Given the description of an element on the screen output the (x, y) to click on. 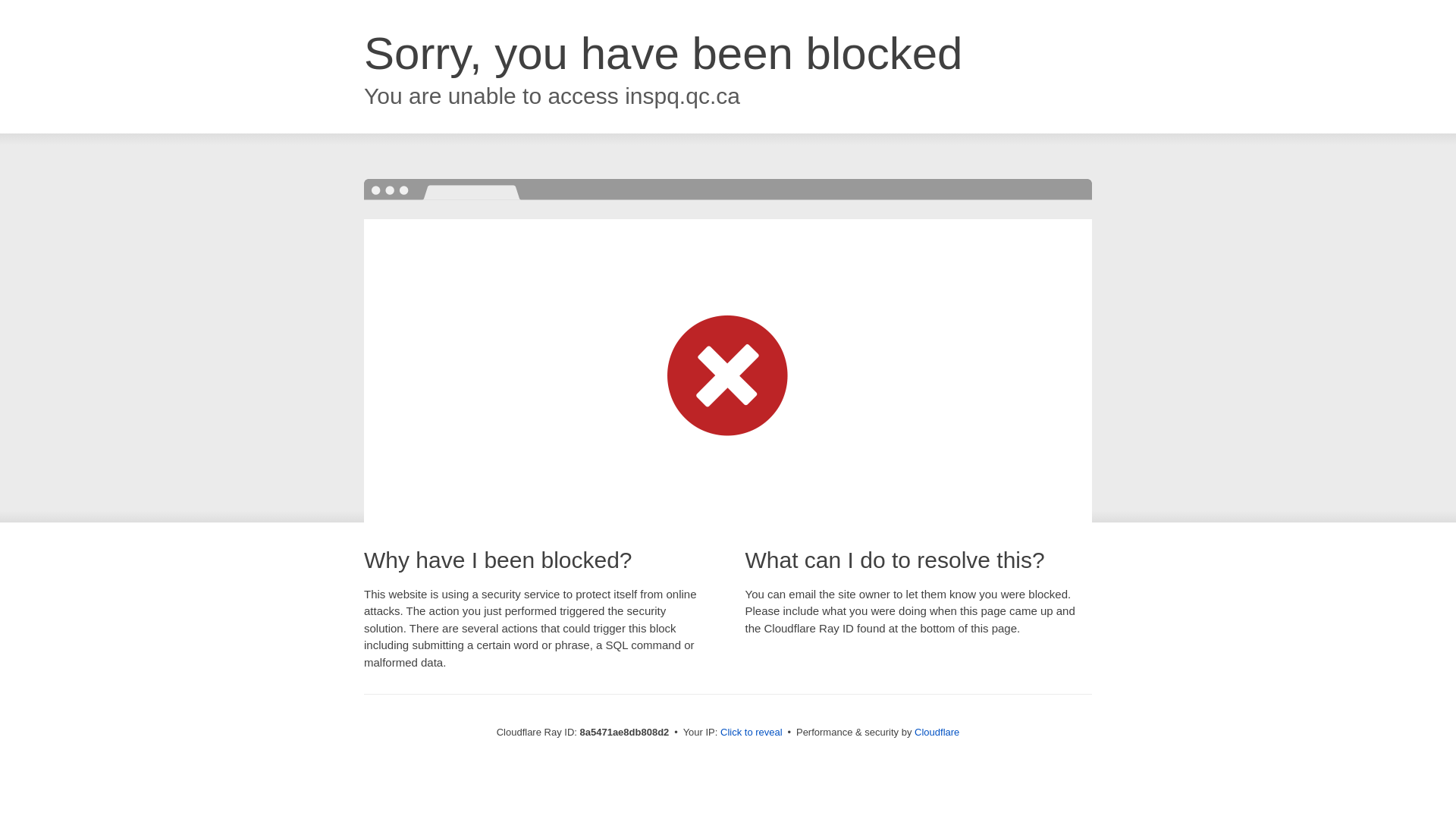
Cloudflare (936, 731)
Click to reveal (751, 732)
